Given the description of an element on the screen output the (x, y) to click on. 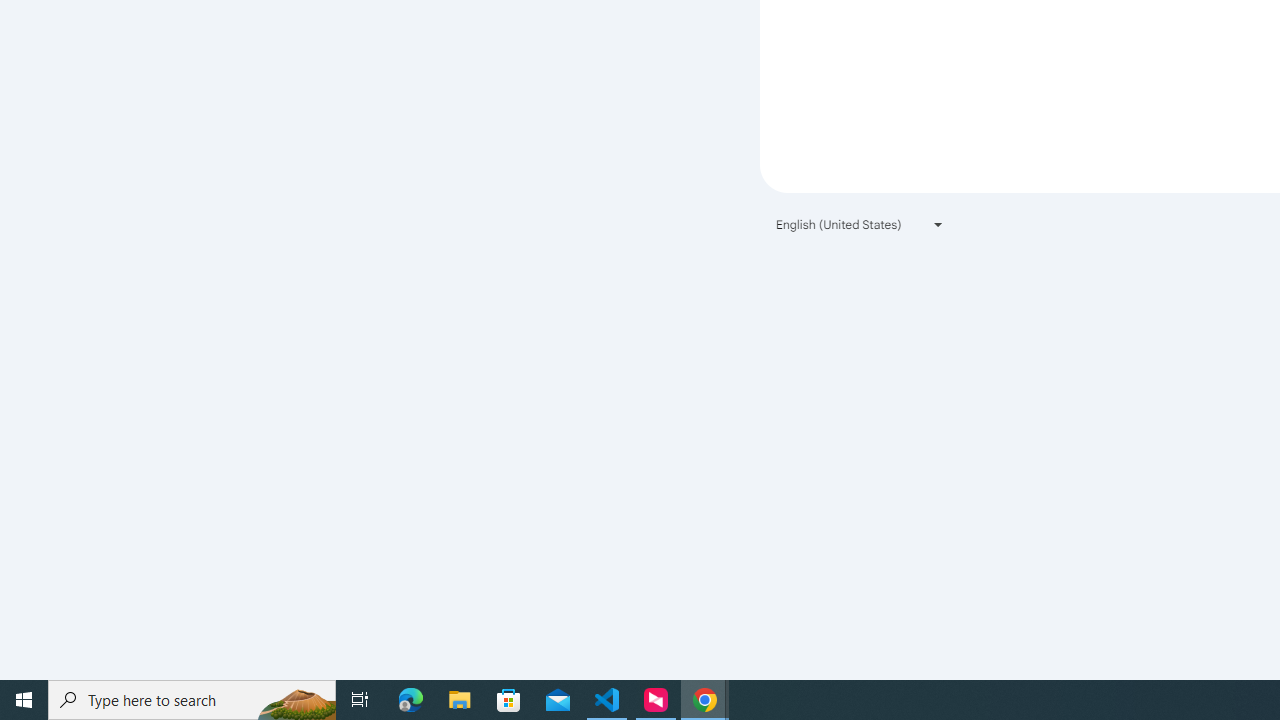
English (United States) (860, 224)
